Given the description of an element on the screen output the (x, y) to click on. 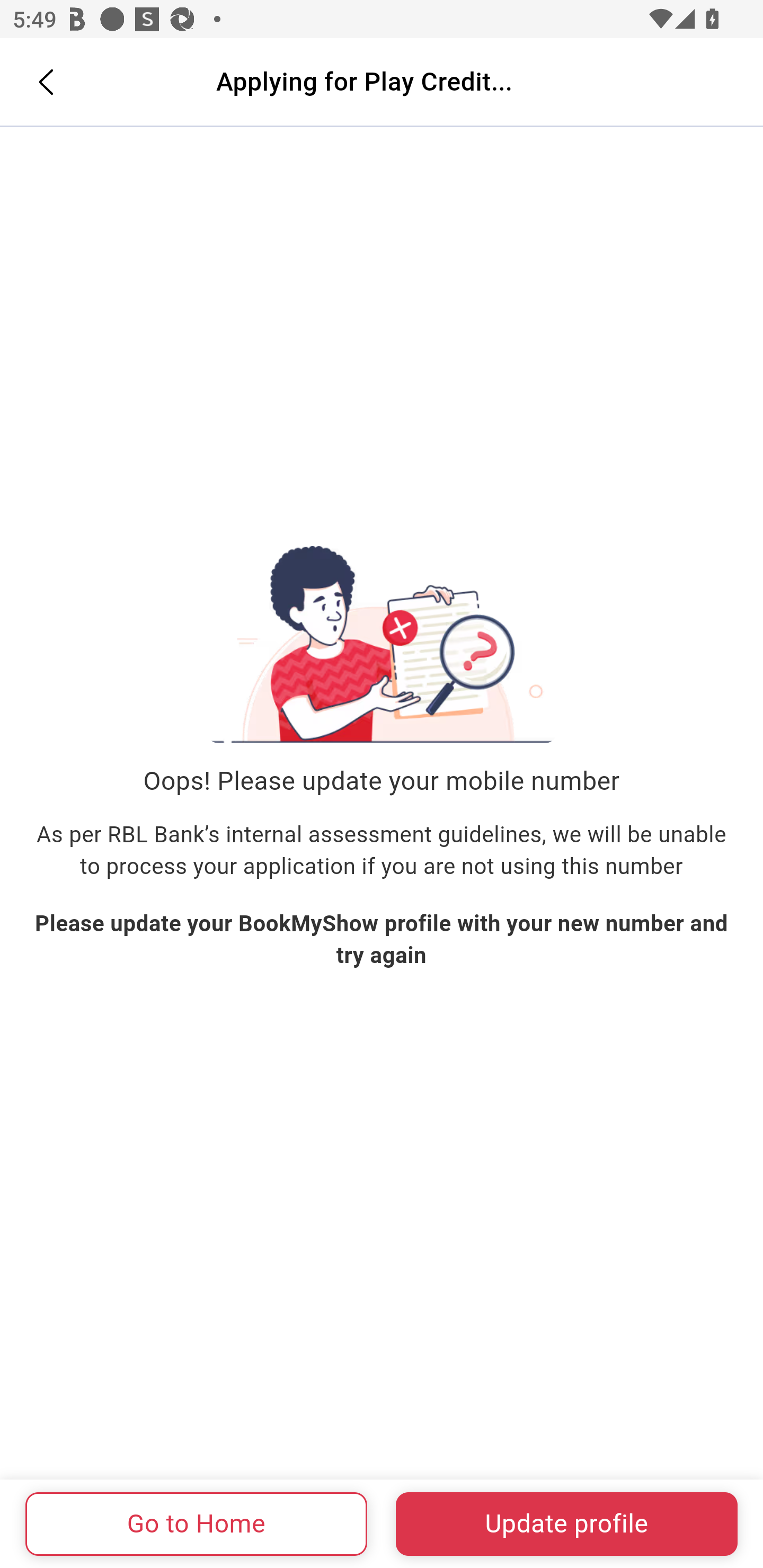
play-credit-card (381, 644)
Go to Home (196, 1523)
Update profile (565, 1523)
